Given the description of an element on the screen output the (x, y) to click on. 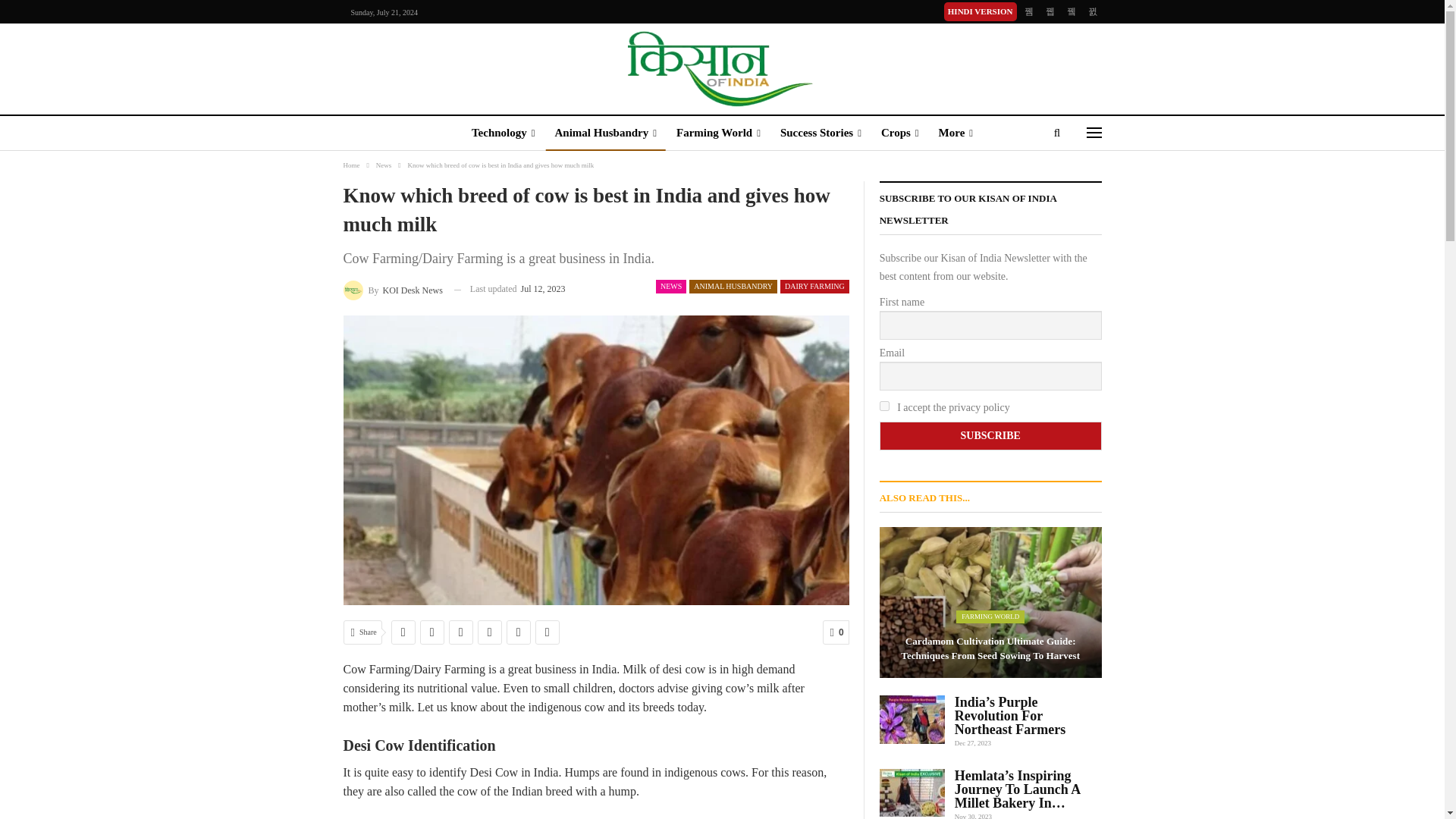
Browse Author Articles (392, 289)
Subscribe (990, 435)
on (884, 406)
